Given the description of an element on the screen output the (x, y) to click on. 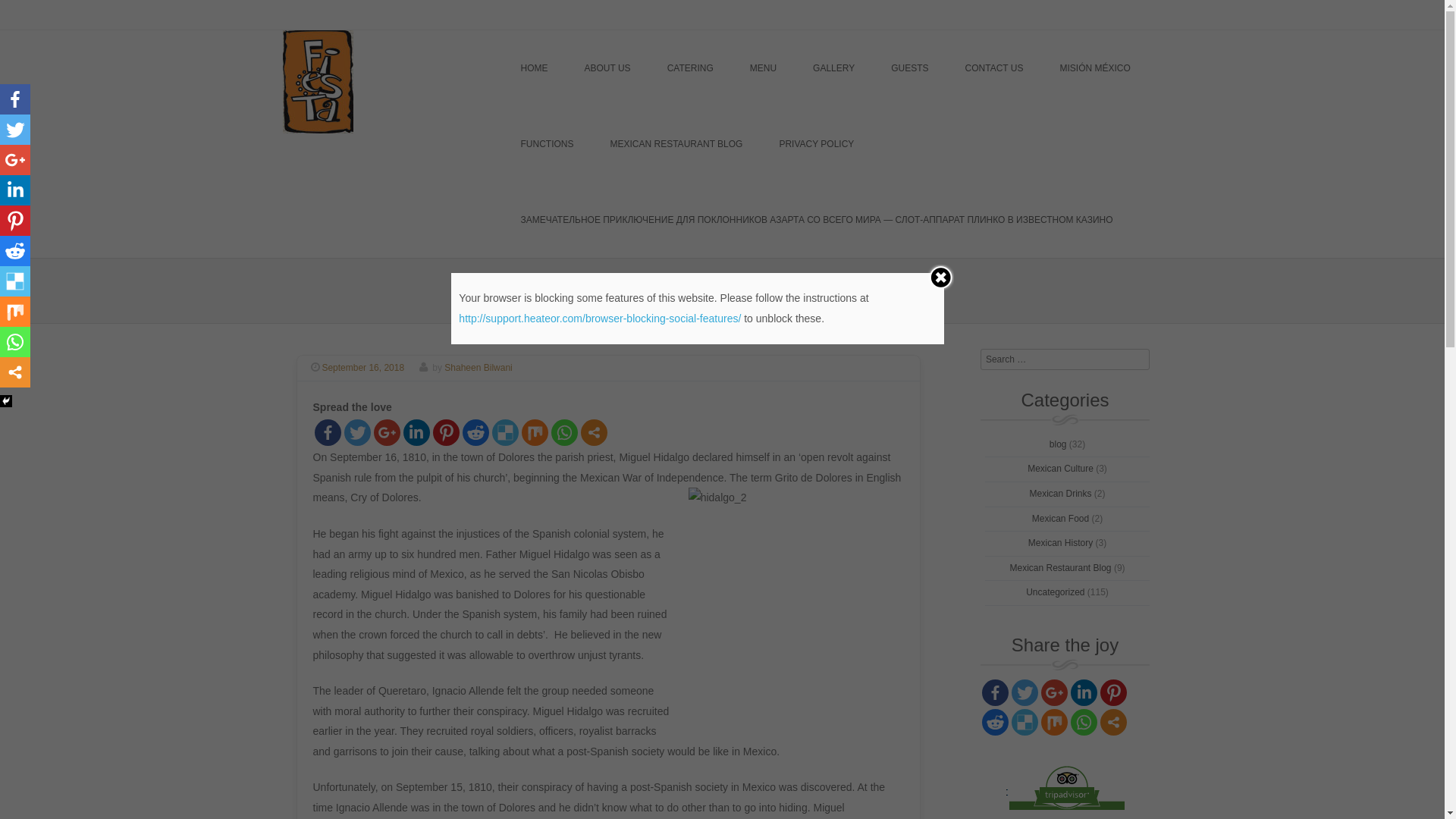
Reddit Element type: hover (475, 432)
Uncategorized Element type: text (1055, 591)
CONTACT US Element type: text (994, 68)
FUNCTIONS Element type: text (546, 144)
Mexican Drinks Element type: text (1060, 493)
Mexican History Element type: text (1060, 542)
Reddit Element type: hover (995, 722)
Delicious Element type: hover (1024, 722)
MENU Element type: text (762, 68)
Mexican Food Element type: text (1060, 518)
Google plus Element type: hover (15, 159)
Facebook Element type: hover (995, 692)
Facebook Element type: hover (15, 99)
Twitter Element type: hover (15, 129)
Mix Element type: hover (534, 432)
Pinterest Element type: hover (15, 220)
Delicious Element type: hover (504, 432)
Twitter Element type: hover (357, 432)
http://support.heateor.com/browser-blocking-social-features/ Element type: text (599, 318)
Shaheen Bilwani Element type: text (477, 367)
Linkedin Element type: hover (416, 432)
Facebook Element type: hover (326, 432)
Mix Element type: hover (15, 311)
Hide Element type: hover (6, 401)
PRIVACY POLICY Element type: text (816, 144)
Reddit Element type: hover (15, 250)
September 16, 2018 Element type: text (365, 367)
MEXICAN RESTAURANT BLOG Element type: text (675, 144)
Whatsapp Element type: hover (563, 432)
Twitter Element type: hover (1024, 692)
Delicious Element type: hover (15, 281)
ABOUT US Element type: text (606, 68)
Mexican Culture Element type: text (1060, 468)
Google plus Element type: hover (1054, 692)
GALLERY Element type: text (833, 68)
Whatsapp Element type: hover (15, 341)
Linkedin Element type: hover (15, 190)
Linkedin Element type: hover (1083, 692)
Google plus Element type: hover (386, 432)
Mexican Restaurant Blog Element type: text (1059, 567)
blog Element type: text (1057, 444)
More Element type: hover (15, 372)
Mix Element type: hover (1054, 722)
Whatsapp Element type: hover (1083, 722)
GUESTS Element type: text (909, 68)
More Element type: hover (1113, 722)
HOME Element type: text (533, 68)
Search Element type: text (86, 14)
CATERING Element type: text (690, 68)
Pinterest Element type: hover (1113, 692)
More Element type: hover (593, 432)
Pinterest Element type: hover (445, 432)
SKIP TO CONTENT Element type: text (561, 68)
